Given the description of an element on the screen output the (x, y) to click on. 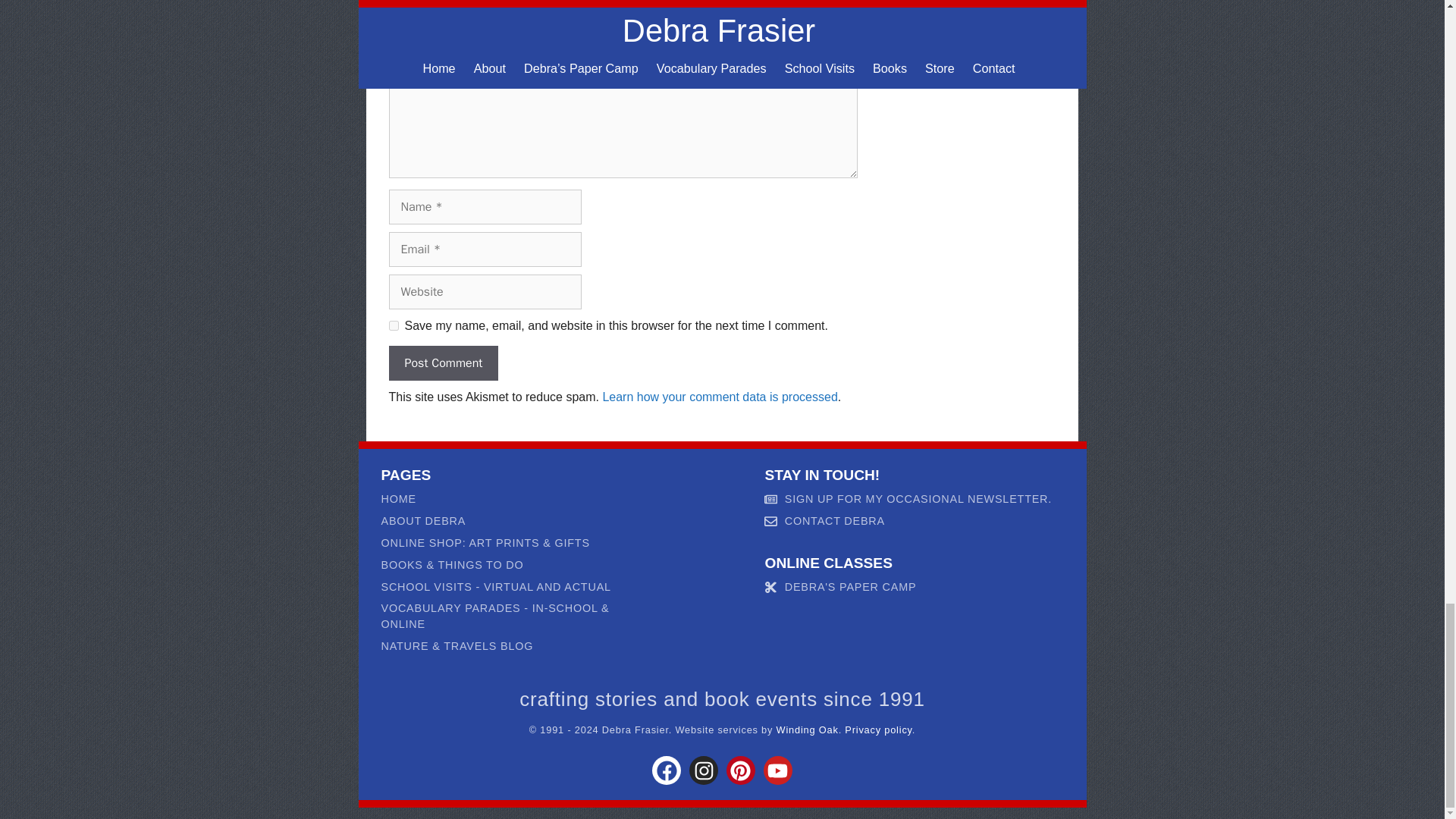
yes (392, 325)
Post Comment (442, 362)
Post Comment (442, 362)
